Given the description of an element on the screen output the (x, y) to click on. 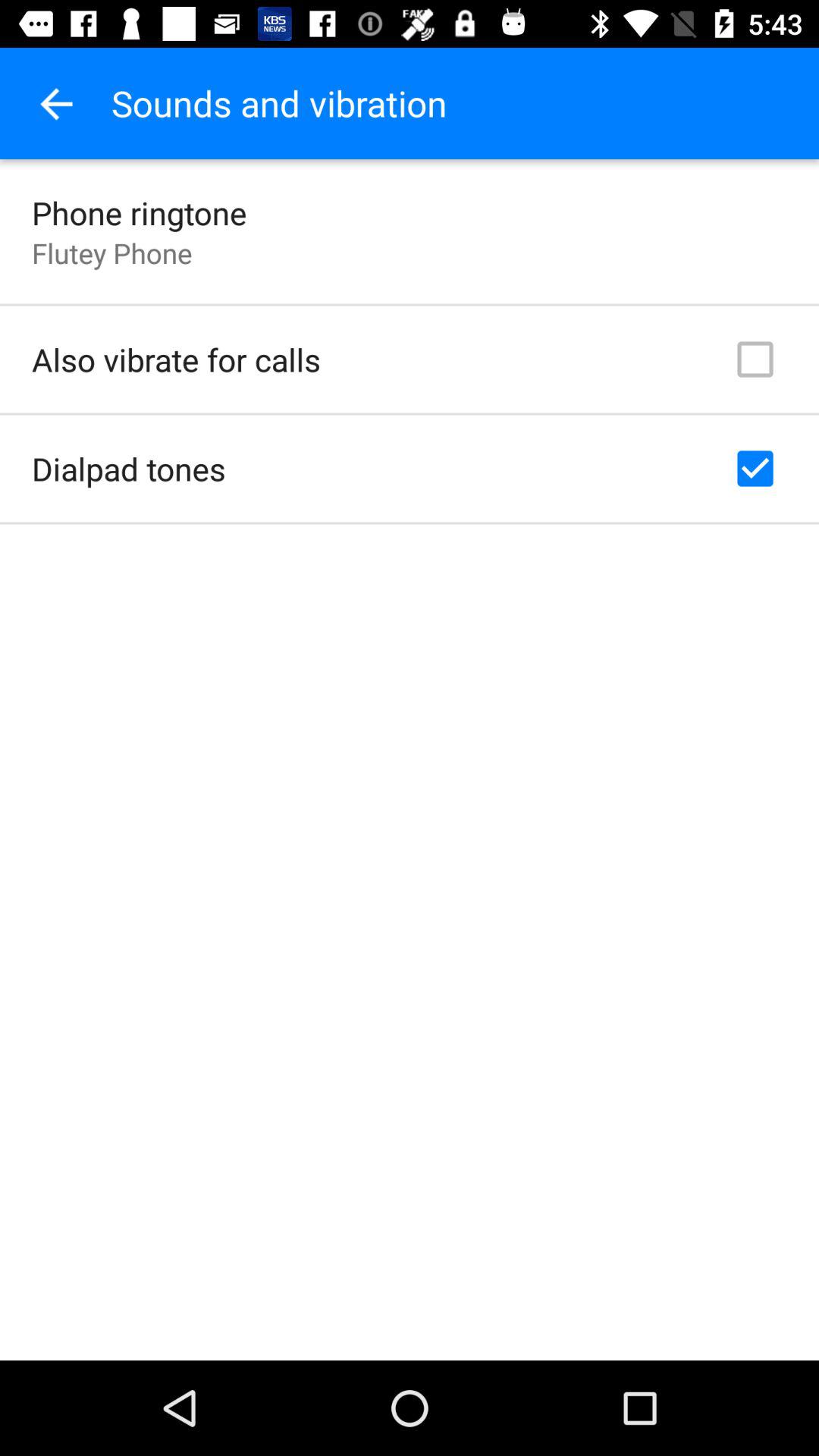
turn on item above the flutey phone (138, 212)
